Given the description of an element on the screen output the (x, y) to click on. 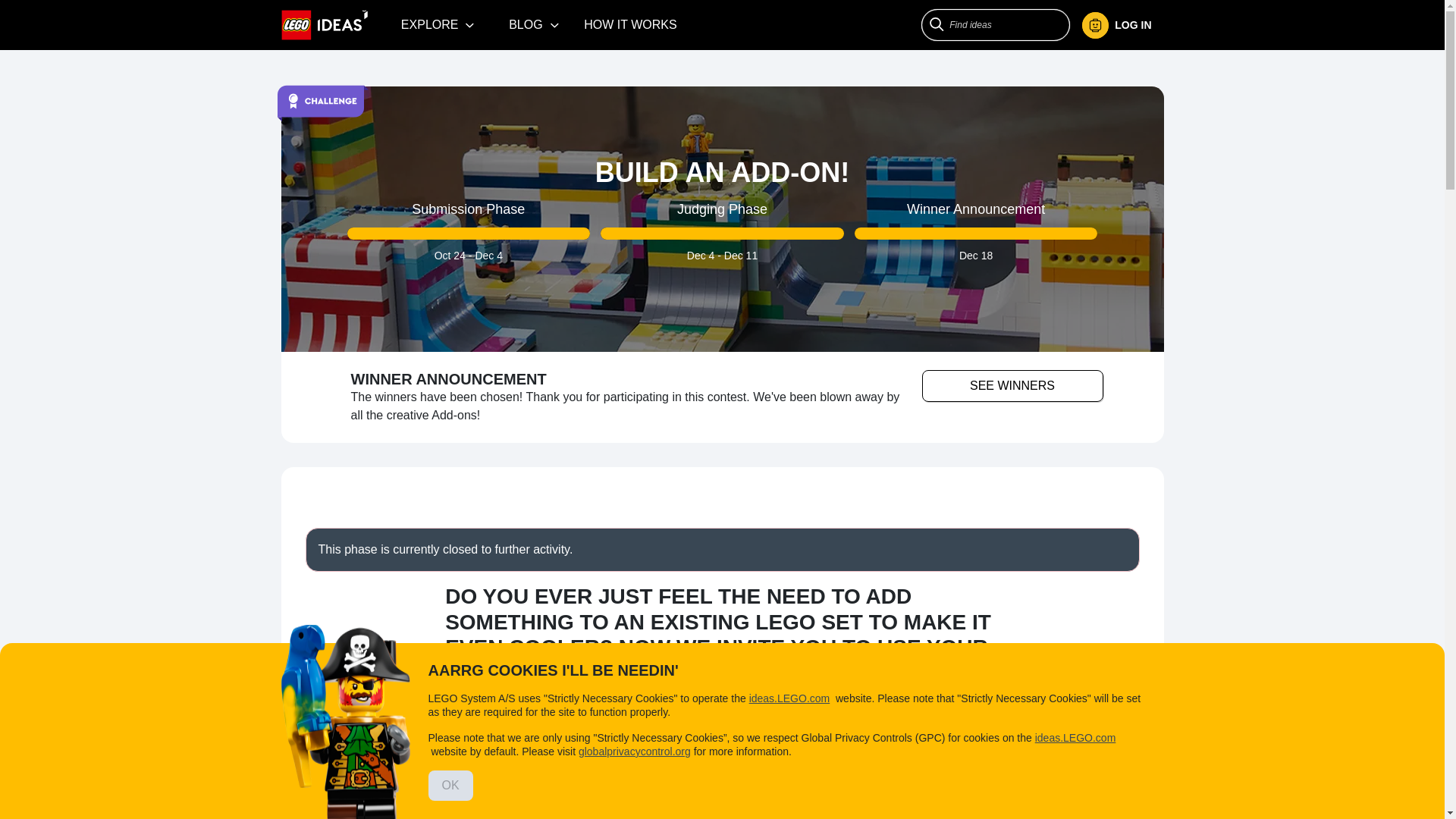
EXPLORE (437, 24)
2018-12-04T12:00:00Z (700, 255)
Read More (722, 719)
BLOG (534, 24)
SEE WINNERS (1012, 386)
Me (1116, 25)
2018-12-11T11:00:00Z (740, 255)
LOG IN (1122, 25)
How It Works (630, 24)
2018-12-18T11:00:00Z (975, 255)
